Given the description of an element on the screen output the (x, y) to click on. 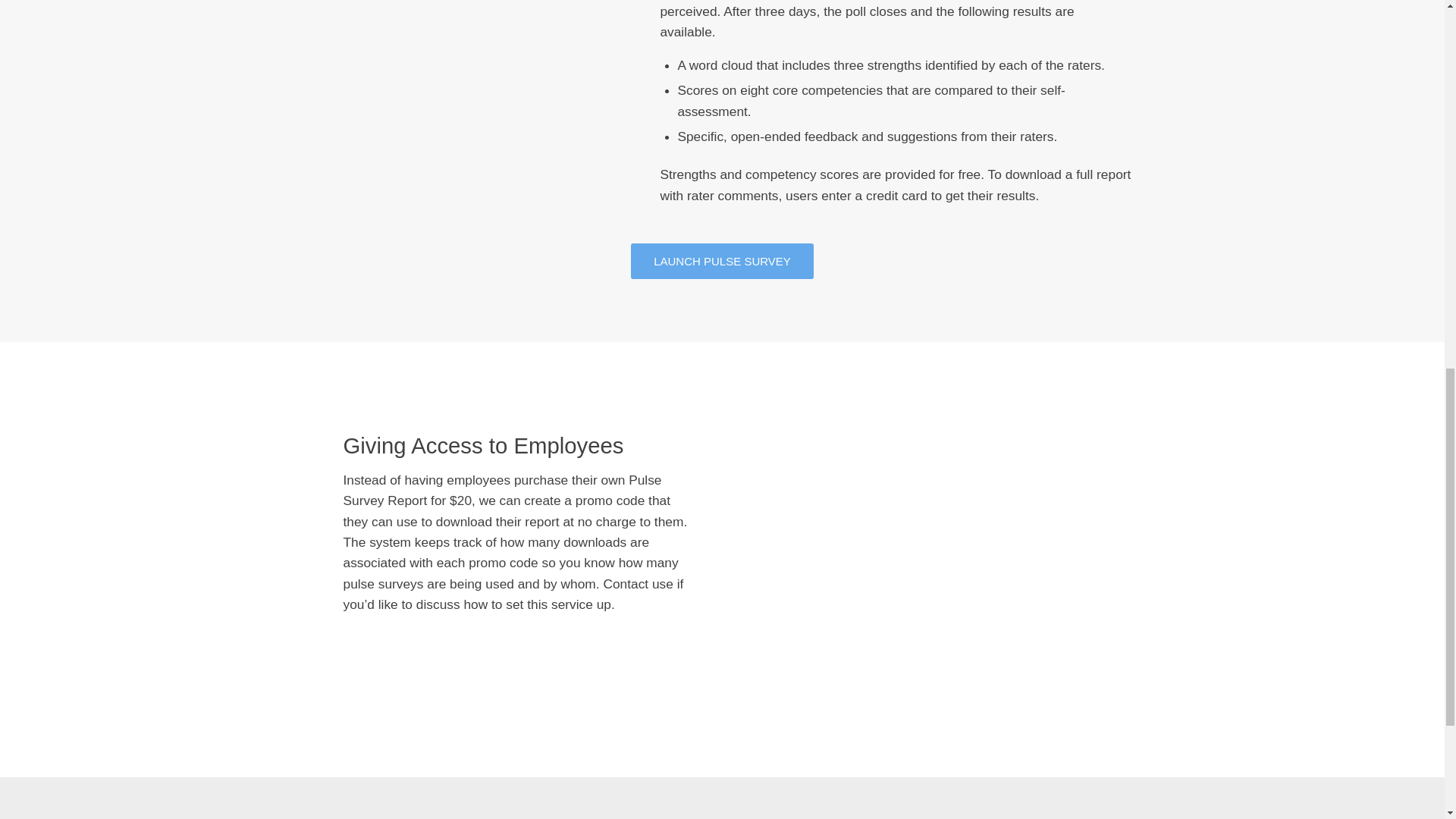
laptop (939, 547)
LAUNCH PULSE SURVEY (721, 261)
